Given the description of an element on the screen output the (x, y) to click on. 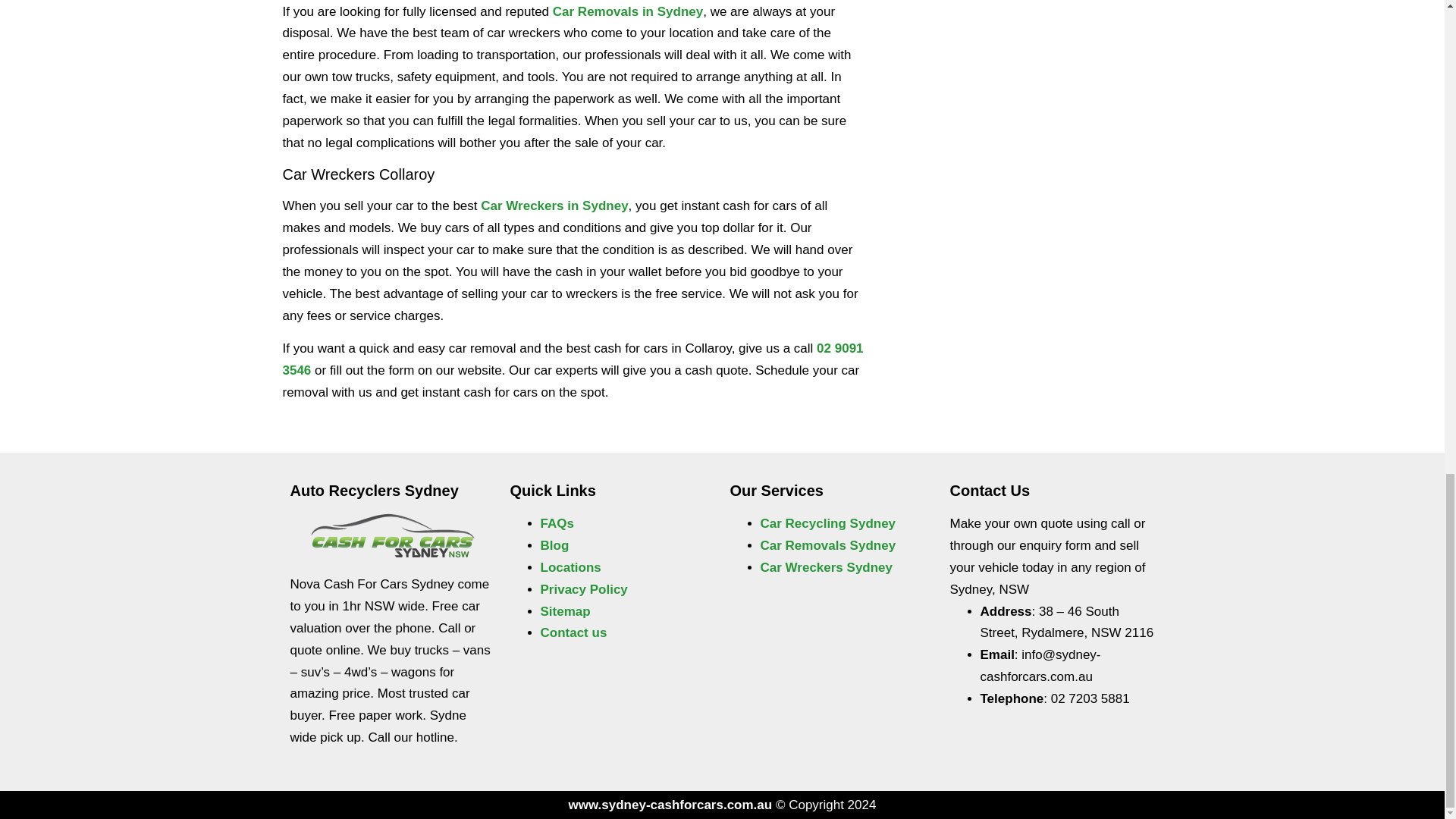
Sitemap (564, 611)
Car Wreckers in Sydney (553, 205)
Car Removals in Sydney (628, 11)
Locations (569, 567)
Privacy Policy (583, 589)
Contact us (573, 632)
02 9091 3546 (572, 359)
Car Recycling Sydney (827, 523)
FAQs (556, 523)
Blog (554, 545)
